Given the description of an element on the screen output the (x, y) to click on. 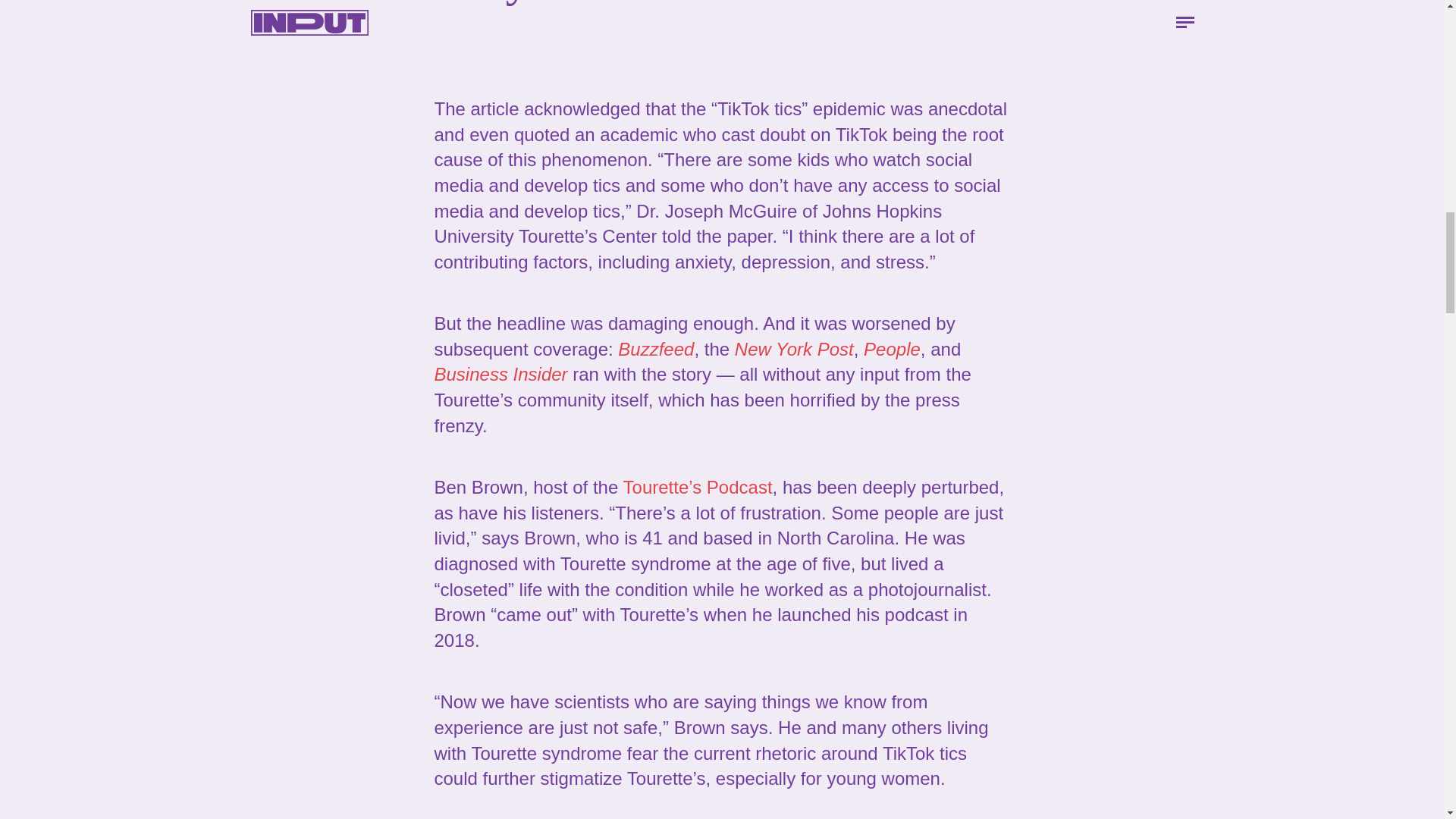
People (891, 349)
Buzzfeed (655, 349)
Business Insider (500, 373)
New York Post (794, 349)
